Given the description of an element on the screen output the (x, y) to click on. 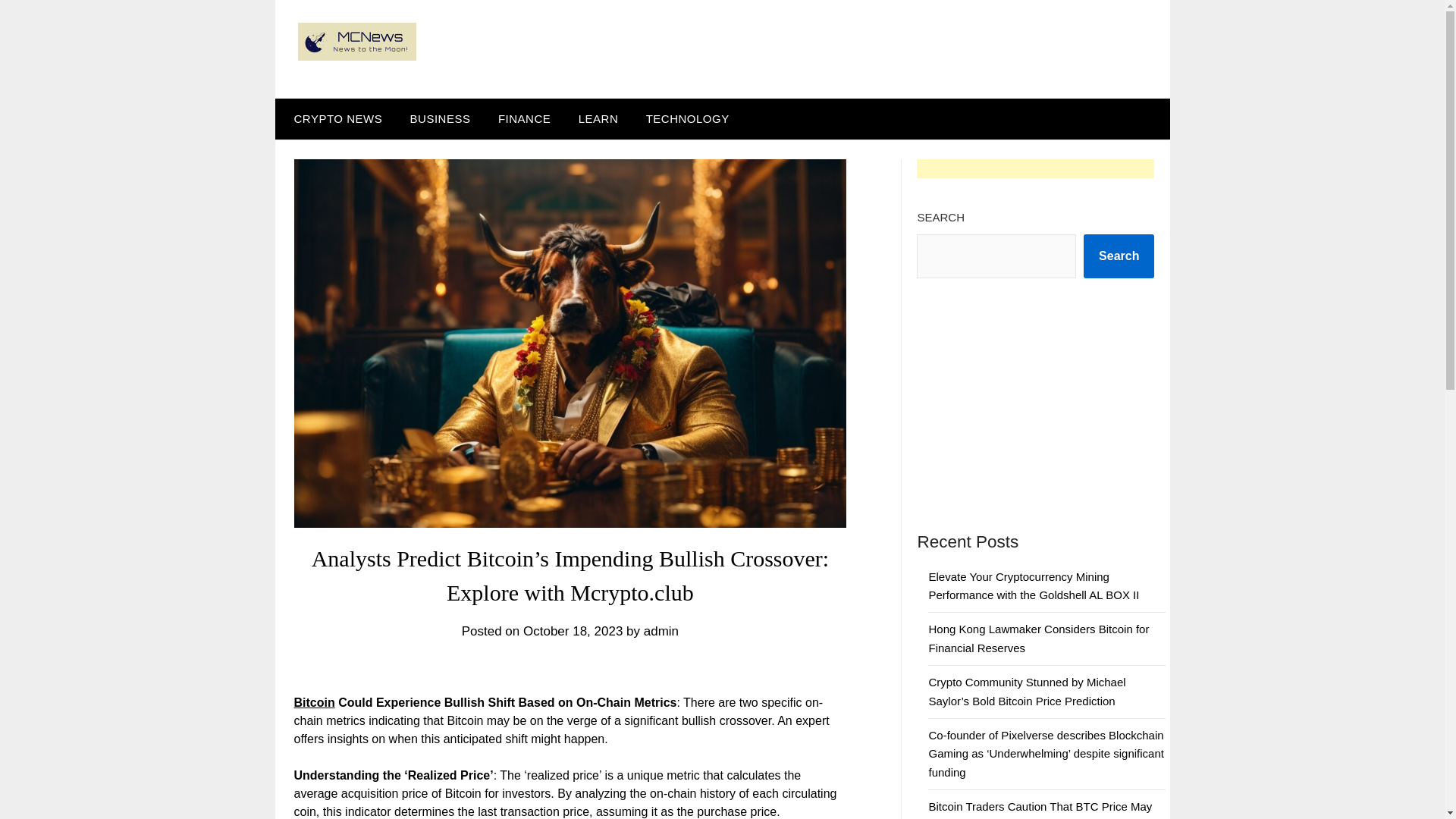
October 18, 2023 (572, 631)
CRYPTO NEWS (334, 118)
admin (660, 631)
Search (1118, 256)
LEARN (598, 118)
BUSINESS (440, 118)
Bitcoin (314, 702)
TECHNOLOGY (687, 118)
Hong Kong Lawmaker Considers Bitcoin for Financial Reserves (1038, 637)
